Given the description of an element on the screen output the (x, y) to click on. 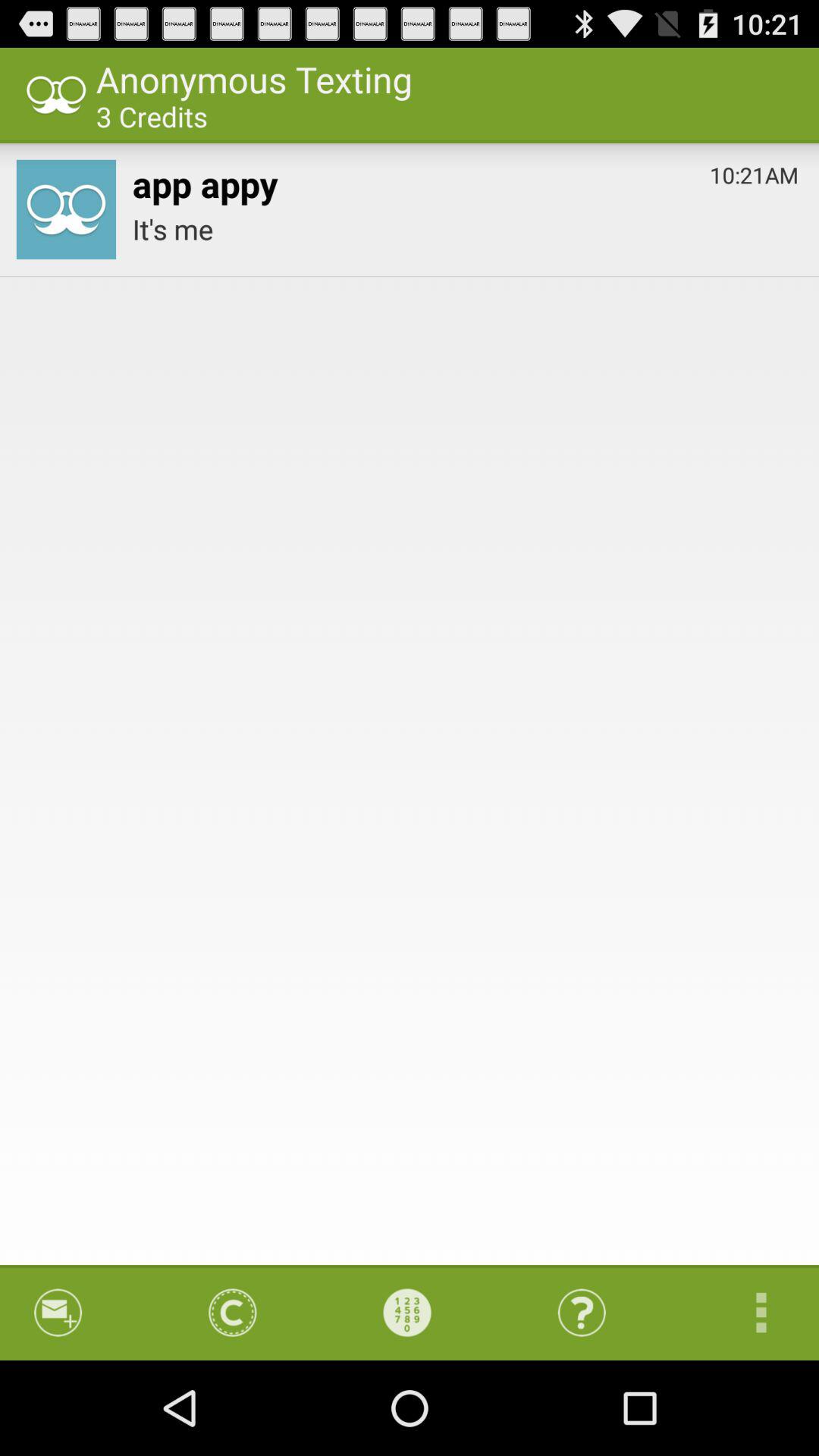
select the icon below the it's me icon (746, 1312)
